Given the description of an element on the screen output the (x, y) to click on. 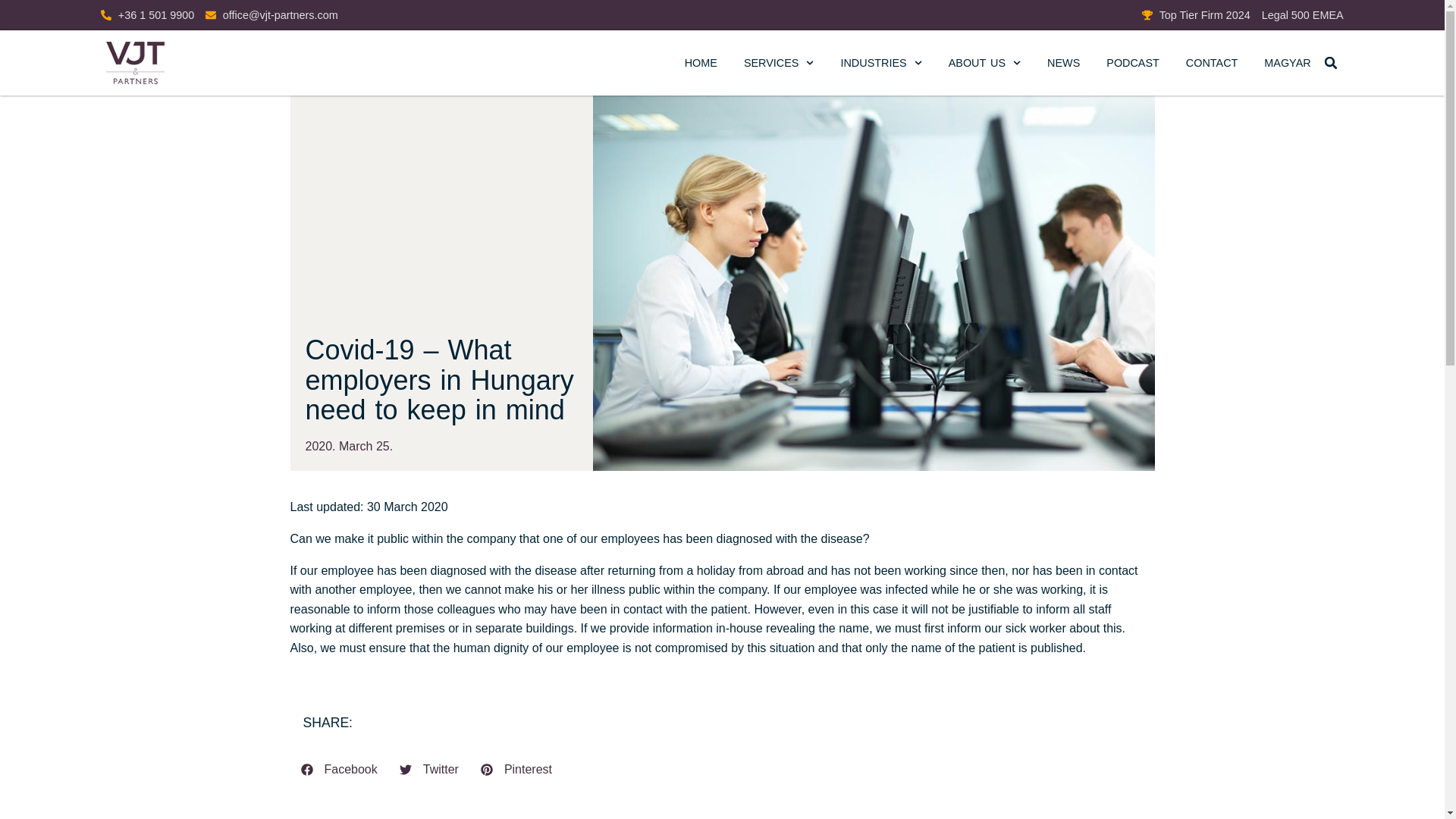
INDUSTRIES (880, 62)
CONTACT (1211, 62)
SERVICES (778, 62)
HOME (700, 62)
MAGYAR (1286, 62)
NEWS (1063, 62)
ABOUT US (984, 62)
PODCAST (1132, 62)
